Given the description of an element on the screen output the (x, y) to click on. 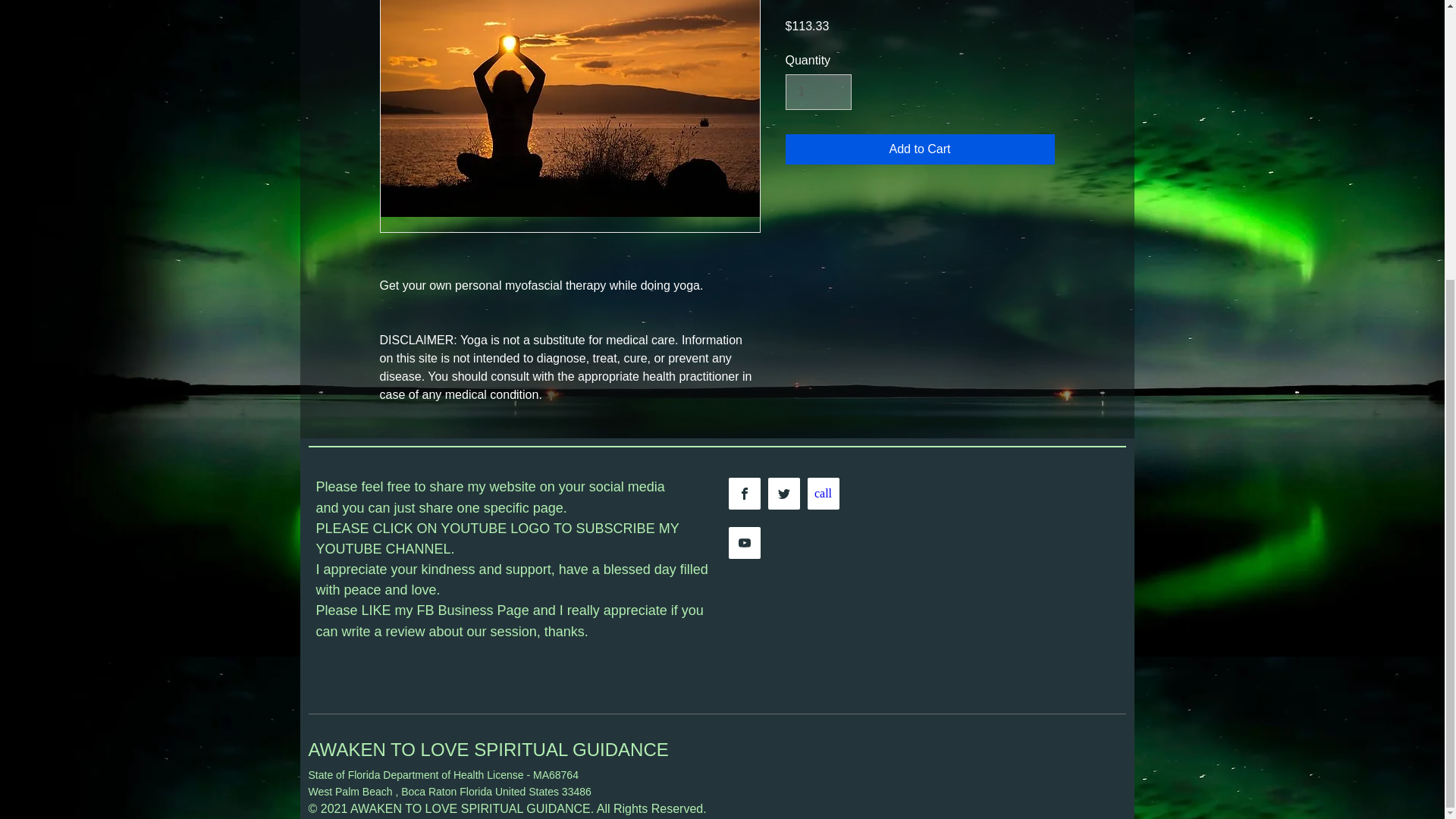
call (822, 493)
1 (818, 91)
Add to Cart (920, 149)
